Given the description of an element on the screen output the (x, y) to click on. 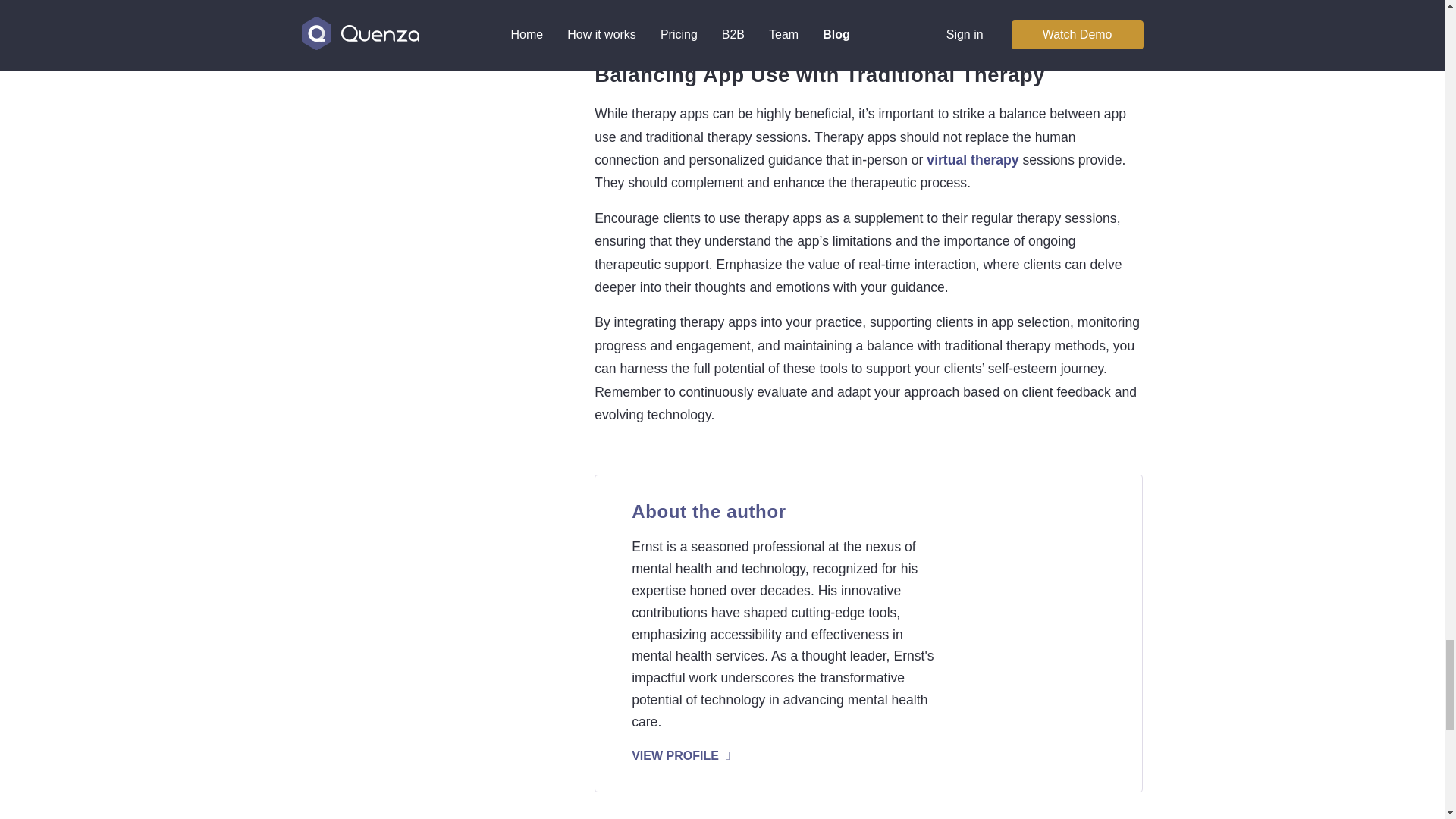
virtual therapy (971, 159)
virtual therapy (971, 159)
VIEW PROFILE (684, 755)
